Given the description of an element on the screen output the (x, y) to click on. 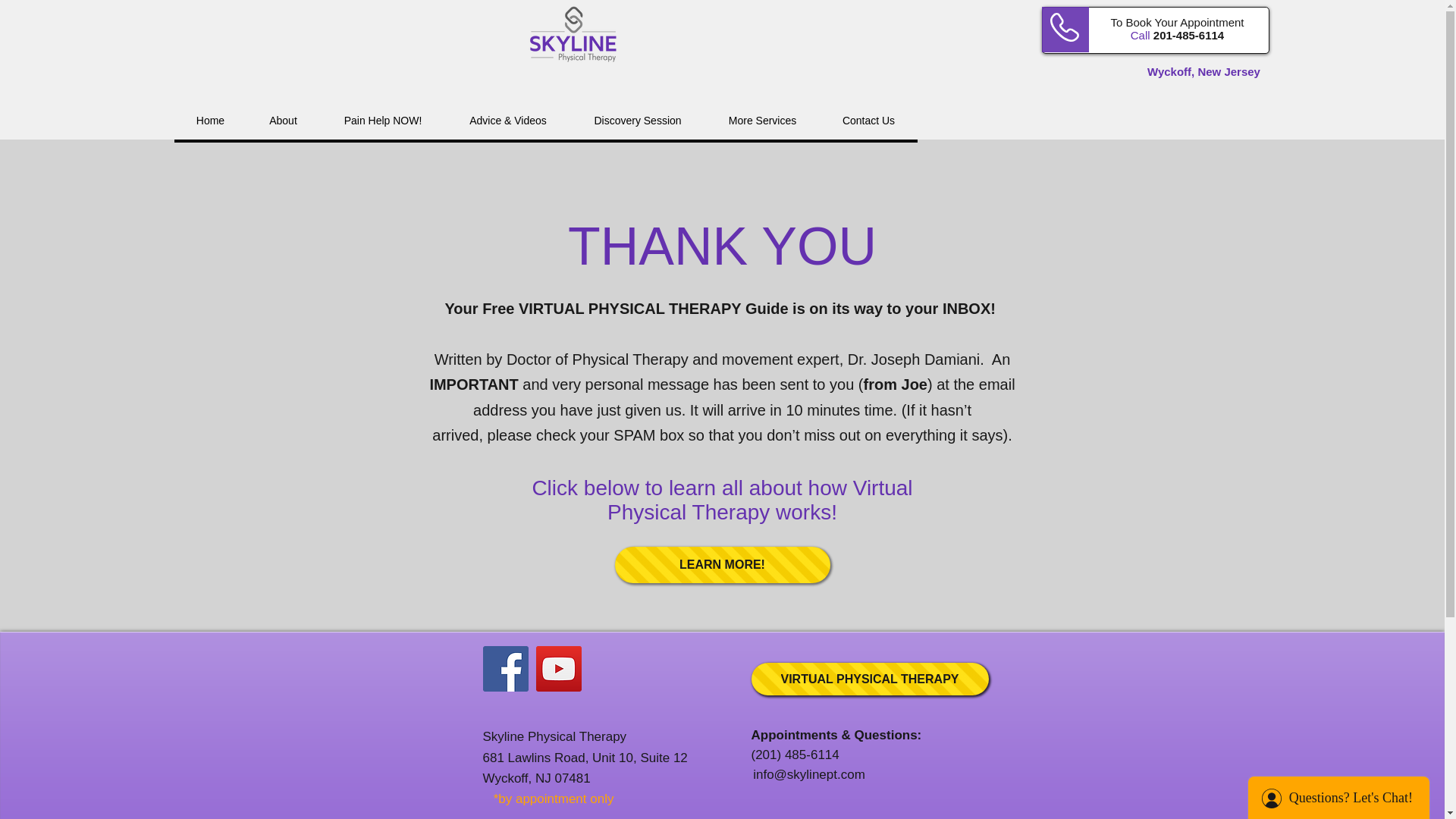
More Services (761, 120)
LEARN MORE! (721, 565)
VIRTUAL PHYSICAL THERAPY (869, 678)
Home (210, 120)
Contact Us (867, 120)
About (282, 120)
Facebook Like (510, 704)
Discovery Session (636, 120)
Pain Help NOW! (381, 120)
